Given the description of an element on the screen output the (x, y) to click on. 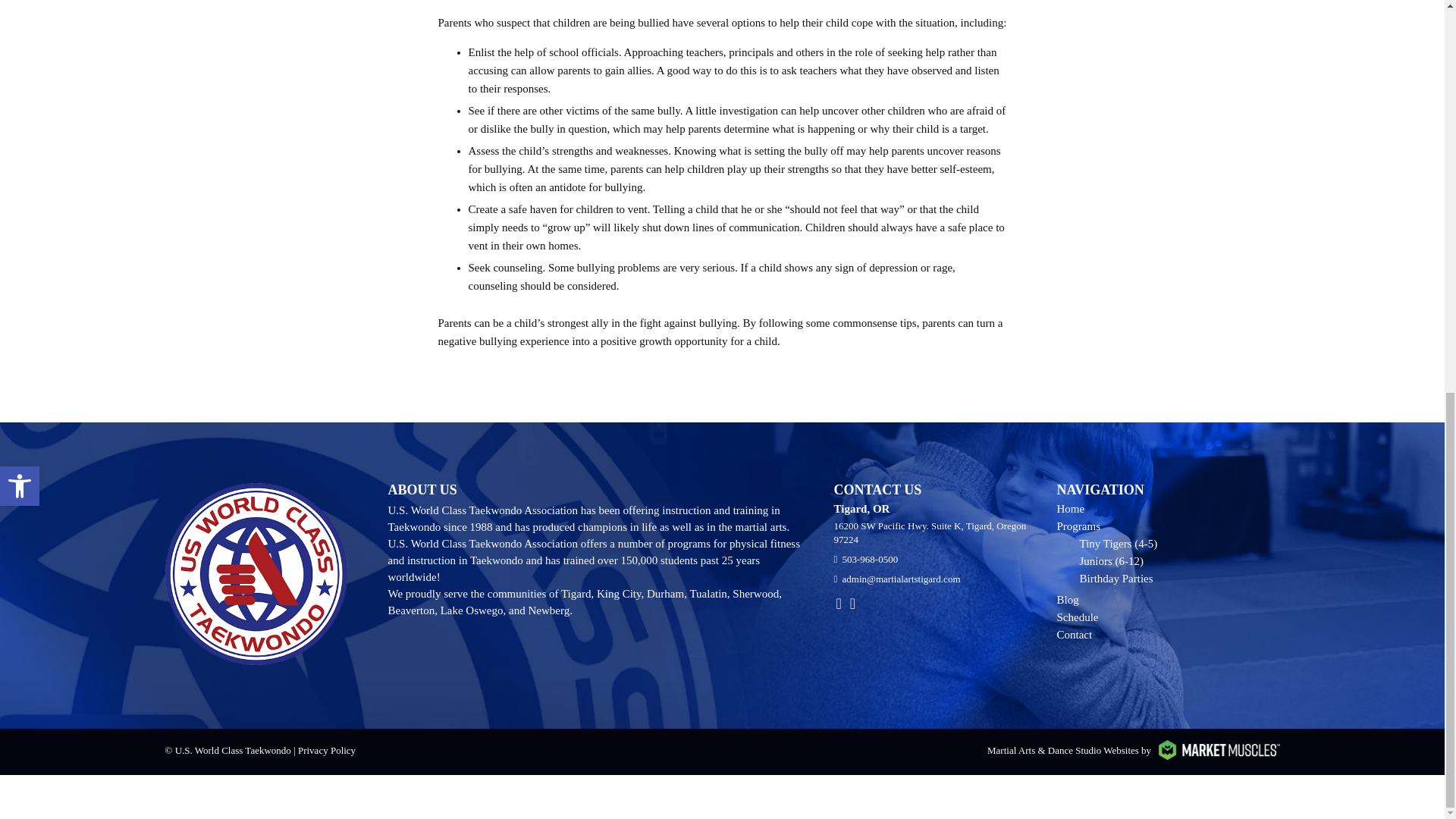
Accessibility Tools (19, 486)
Accessibility Tools (19, 486)
